Given the description of an element on the screen output the (x, y) to click on. 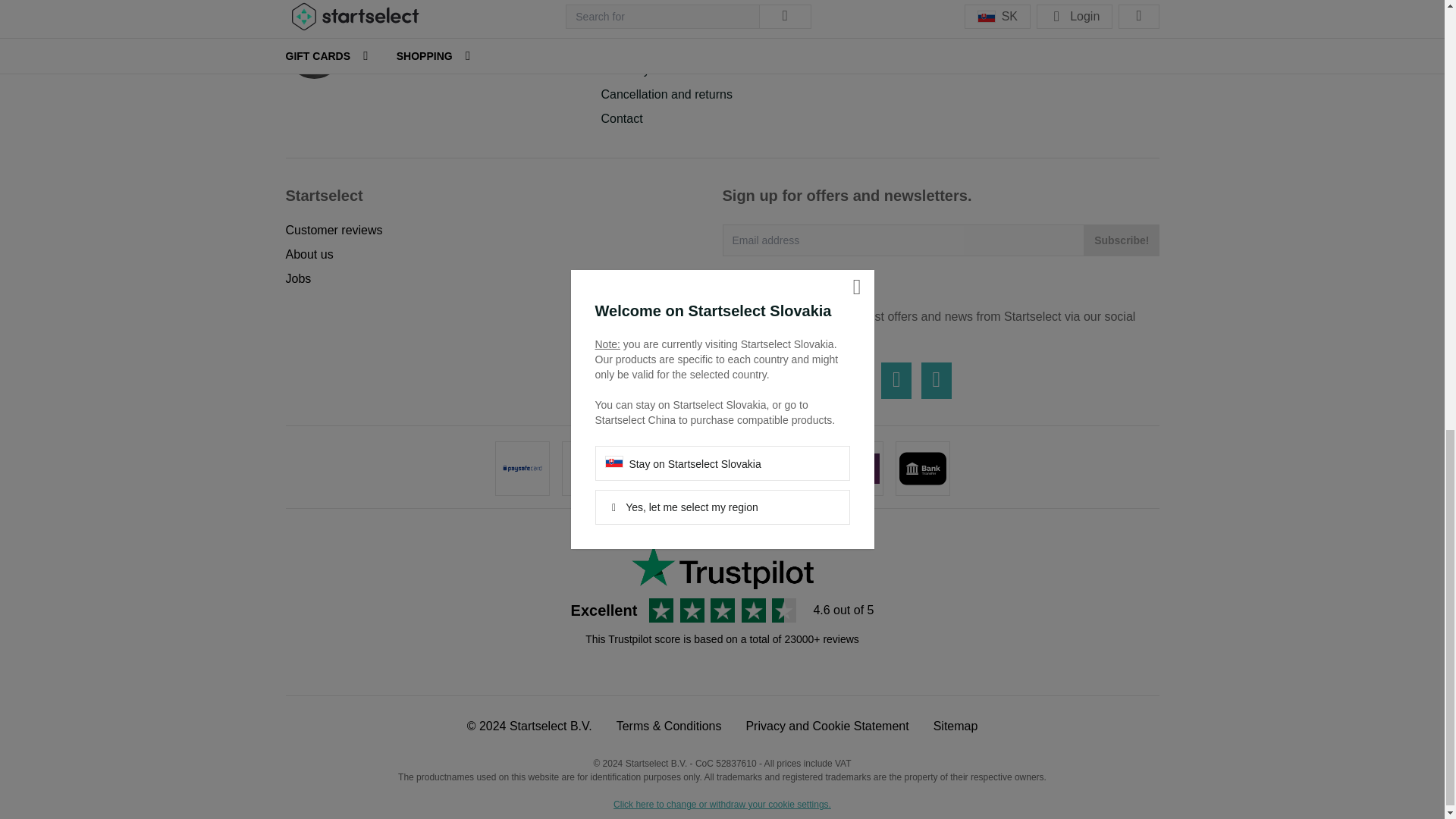
Cancellation and returns (665, 93)
Warranty (624, 69)
Help with codes (642, 45)
When do I receive my order? (677, 21)
Warranty (624, 69)
Contact (620, 118)
Search (1130, 31)
Contact (620, 118)
When do I receive my order? (677, 21)
Cancellation and returns (665, 93)
